Given the description of an element on the screen output the (x, y) to click on. 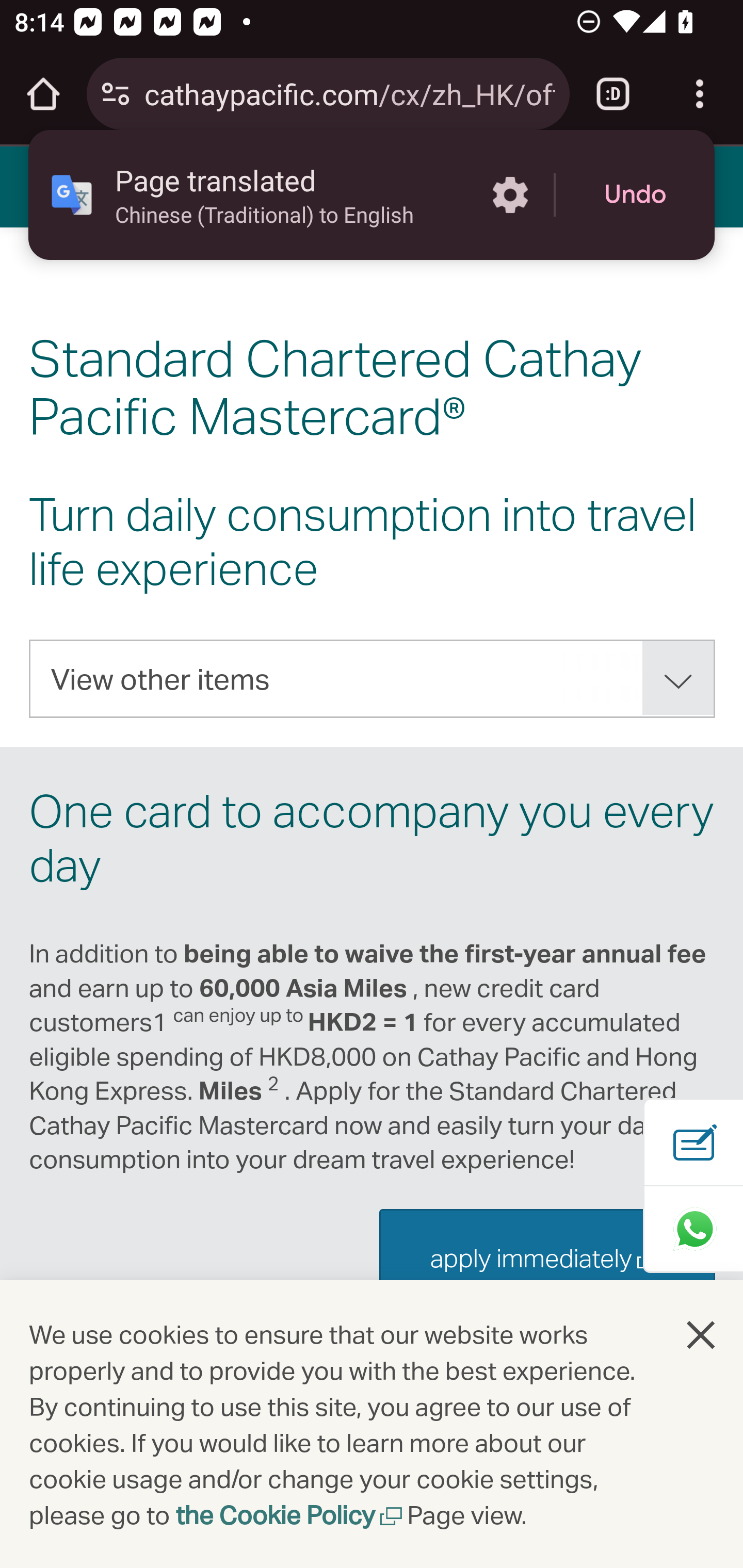
Open the home page (43, 93)
Connection is secure (115, 93)
Switch or close tabs (612, 93)
Customize and control Google Chrome (699, 93)
Undo (634, 195)
Menu (47, 186)
Notification Center (141, 186)
More options in the Page translated (509, 195)
View other items (372, 678)
closure (701, 1334)
